Given the description of an element on the screen output the (x, y) to click on. 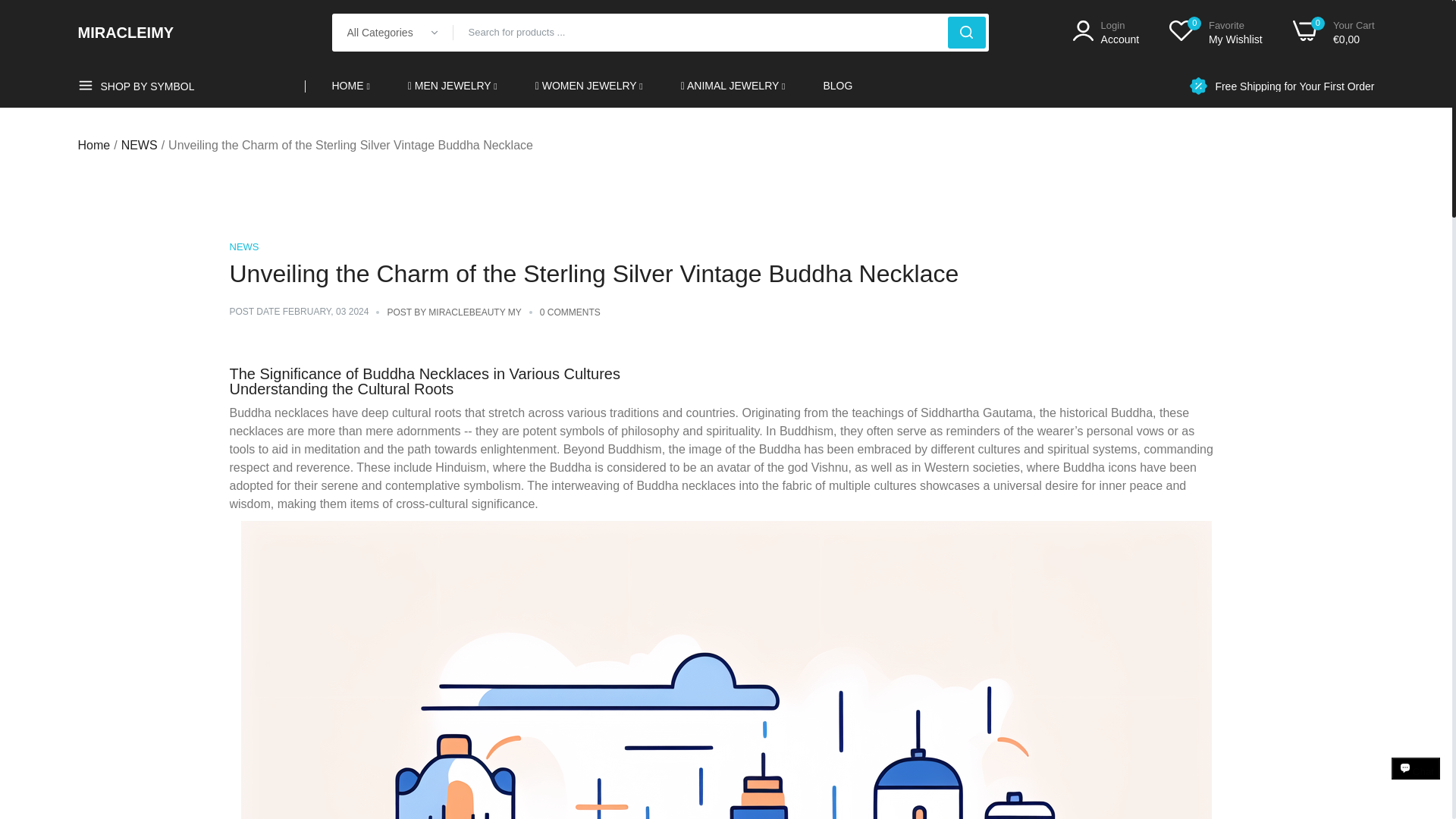
HOME (350, 86)
My Wishlist (1215, 31)
NEWS (243, 246)
MEN JEWELRY (452, 86)
NEWS (138, 145)
ANIMAL JEWELRY (733, 86)
Free Shipping for Your First Order (1294, 85)
ANIMAL JEWELRY (1294, 85)
Login (1106, 31)
WOMEN JEWELRY (589, 86)
Your Cart (1106, 31)
Home (1333, 31)
